Given the description of an element on the screen output the (x, y) to click on. 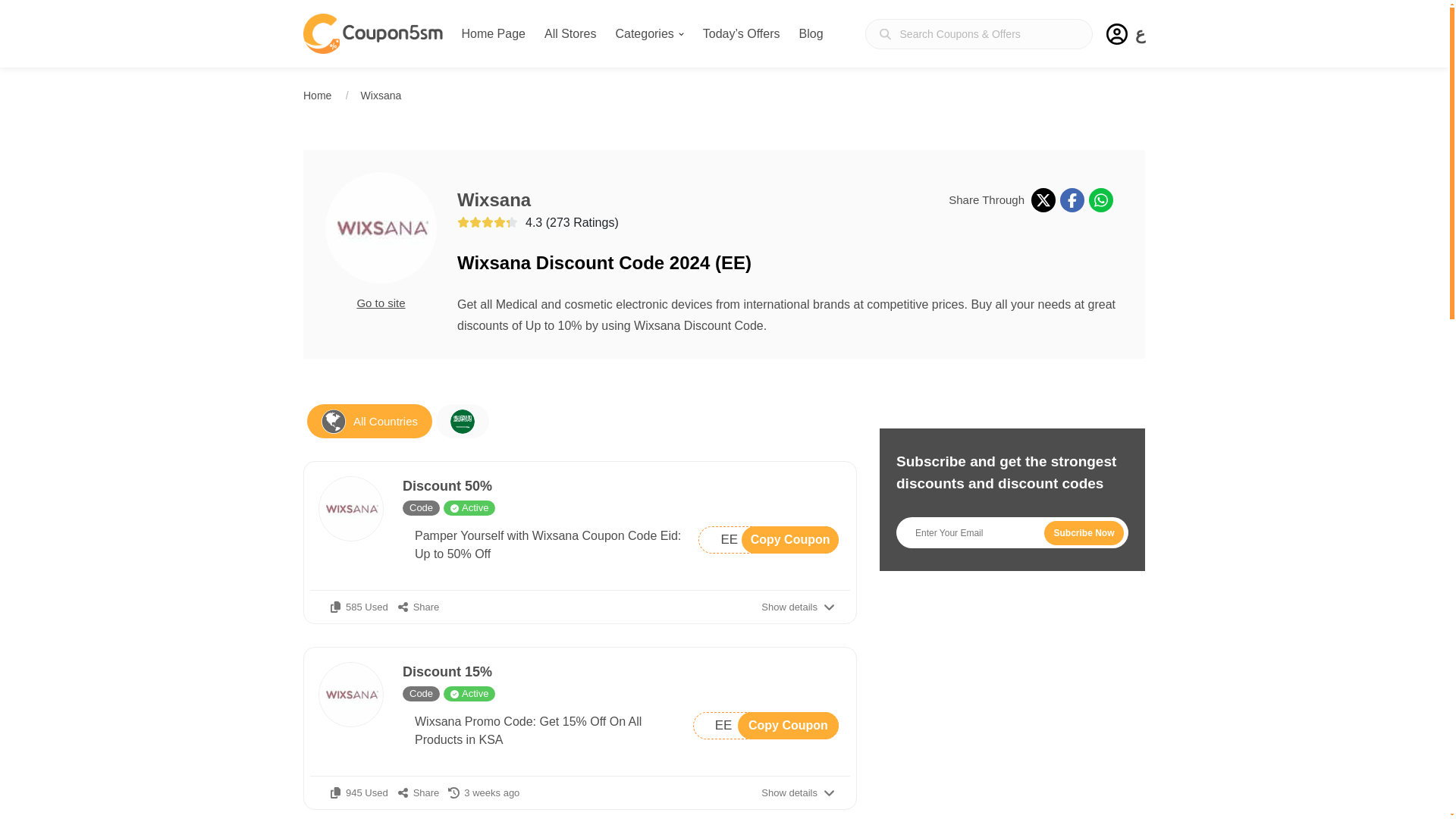
All Stores (569, 33)
All Stores (569, 33)
Home Page (493, 33)
Categories (648, 33)
Go to site (380, 303)
Blog (811, 33)
Home (316, 95)
Categories (768, 539)
Home Page (648, 33)
